Given the description of an element on the screen output the (x, y) to click on. 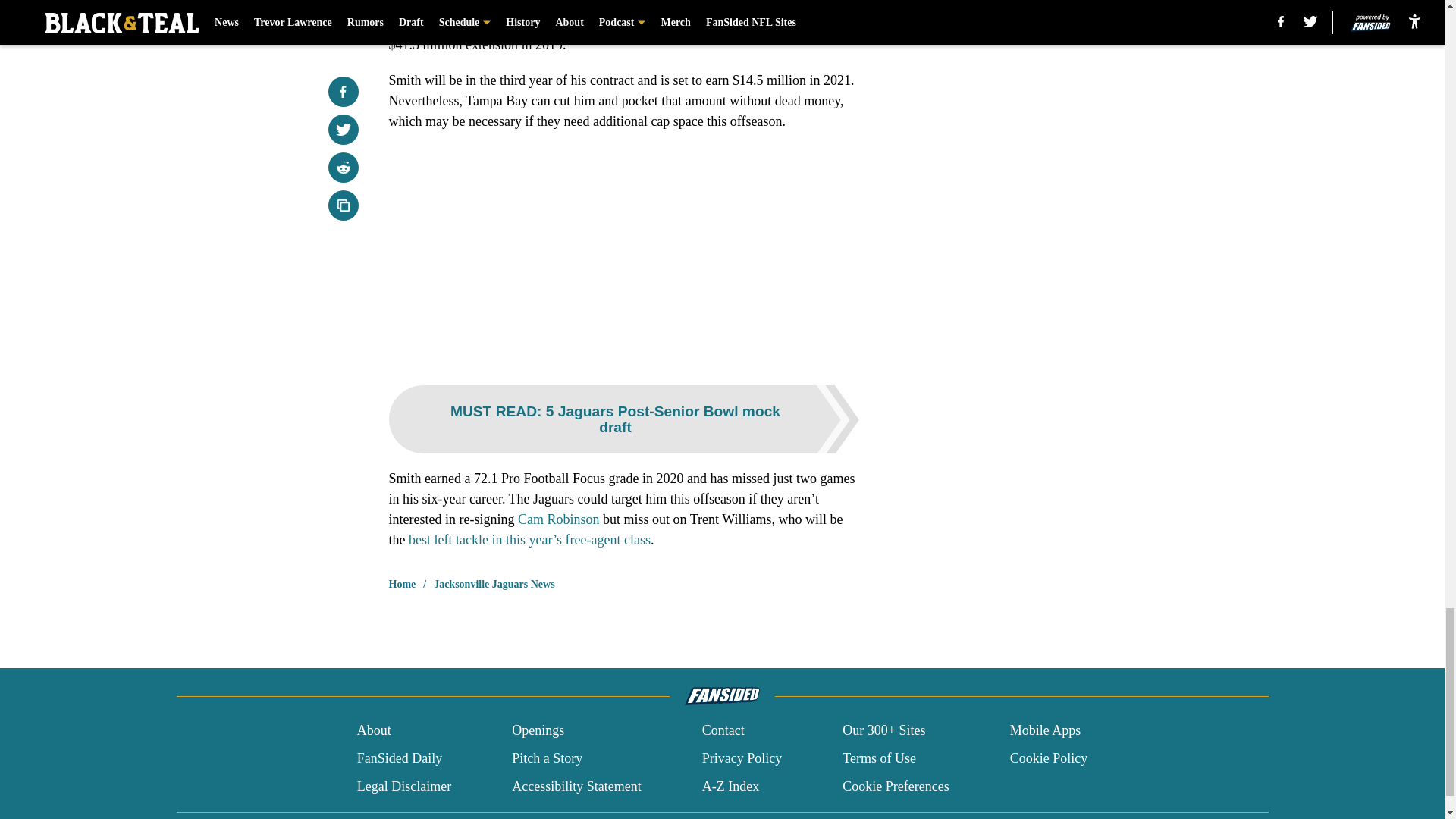
Jacksonville Jaguars News (493, 584)
Cam Robinson (558, 519)
Contact (722, 730)
Privacy Policy (742, 758)
MUST READ: 5 Jaguars Post-Senior Bowl mock draft (623, 418)
FanSided Daily (399, 758)
Pitch a Story (547, 758)
Mobile Apps (1045, 730)
Home (401, 584)
Openings (538, 730)
